Given the description of an element on the screen output the (x, y) to click on. 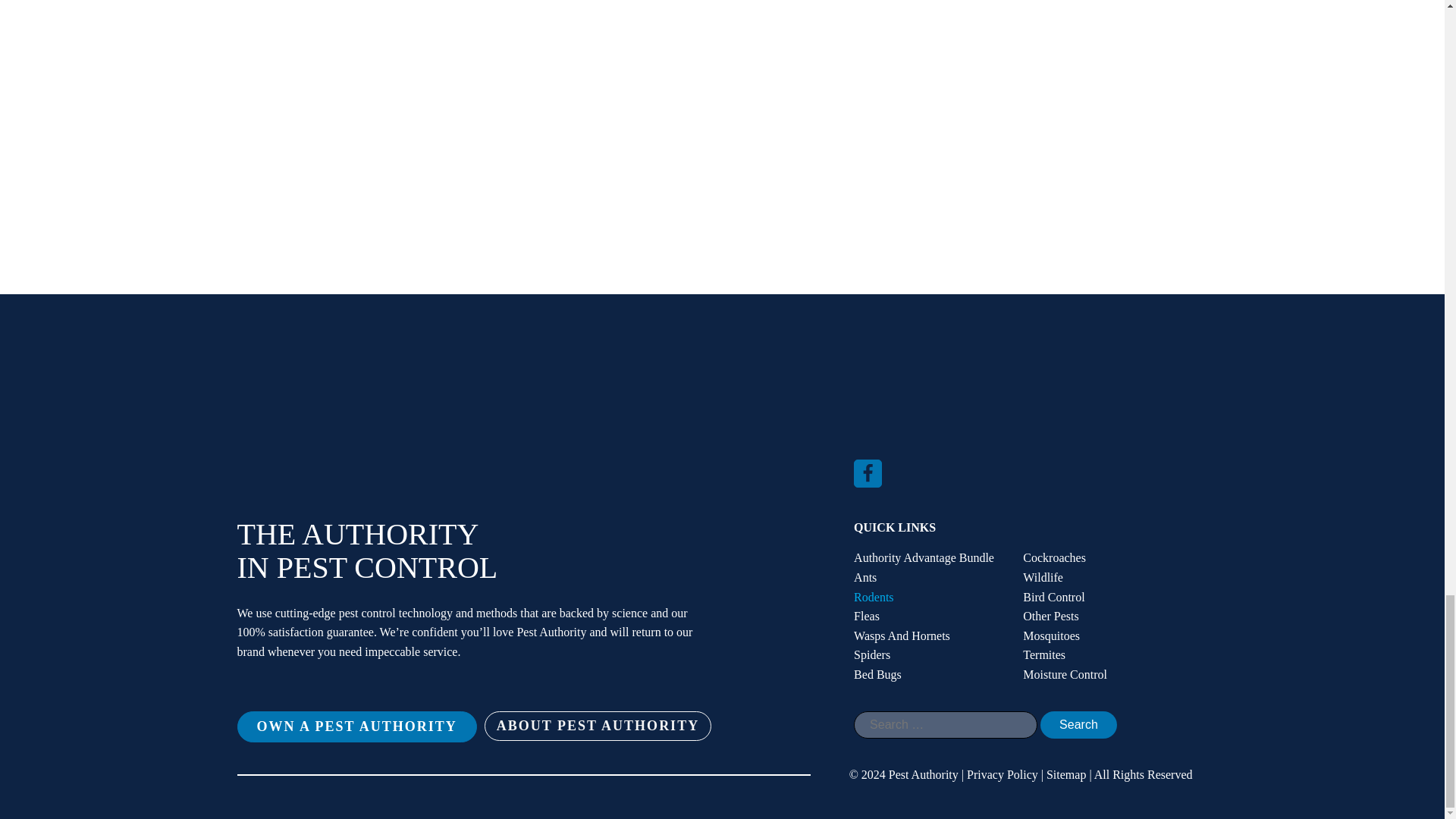
Search (1078, 724)
Search (1078, 724)
